Given the description of an element on the screen output the (x, y) to click on. 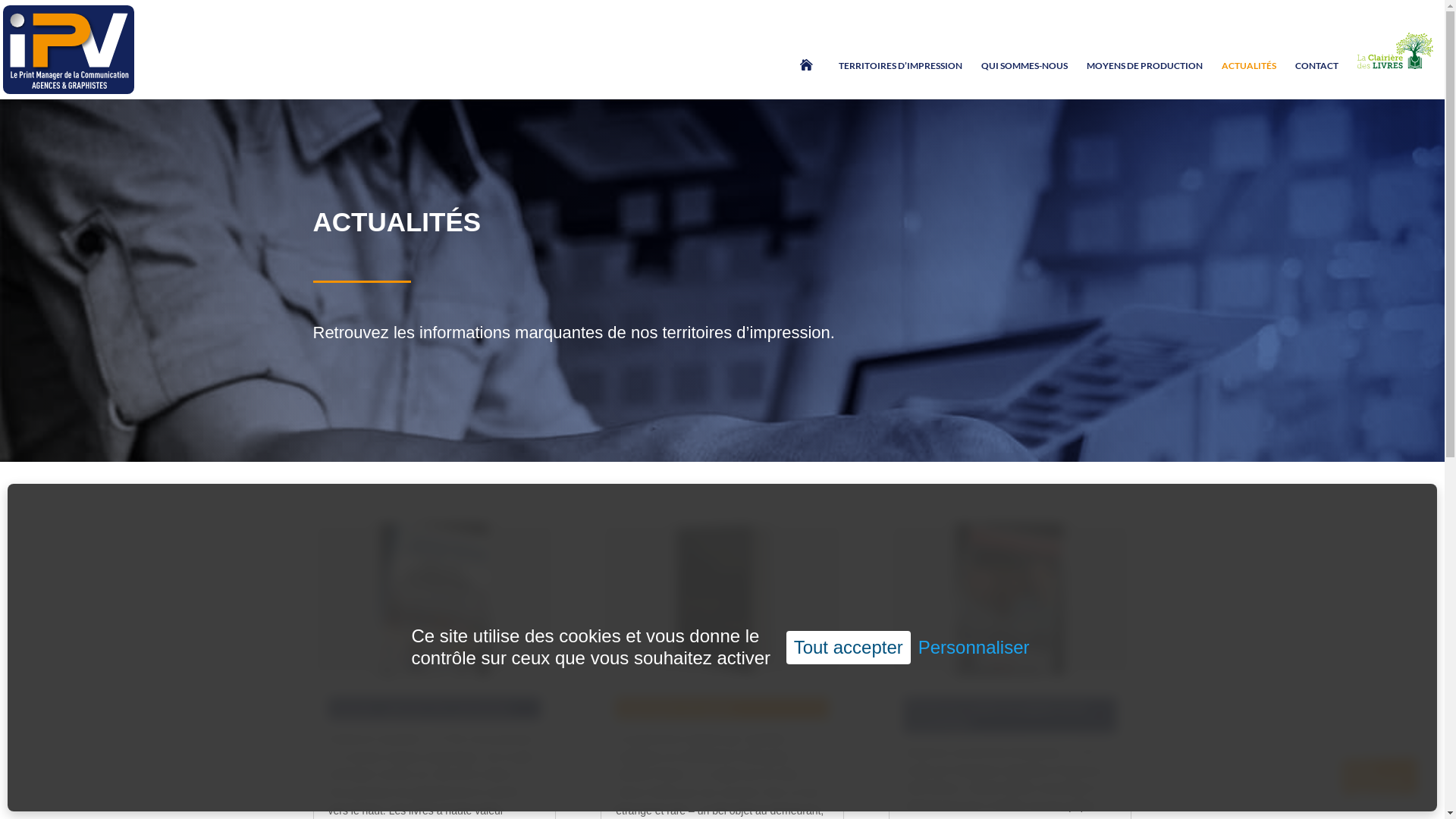
QUI SOMMES-NOUS Element type: text (1024, 78)
Tout accepter Element type: text (848, 647)
MOYENS DE PRODUCTION Element type: text (1144, 78)
Personnaliser Element type: text (973, 647)
ACCUEIL Element type: text (809, 81)
CONTACT Element type: text (1316, 78)
NOUS REJOINDRE Element type: text (1376, 775)
